Given the description of an element on the screen output the (x, y) to click on. 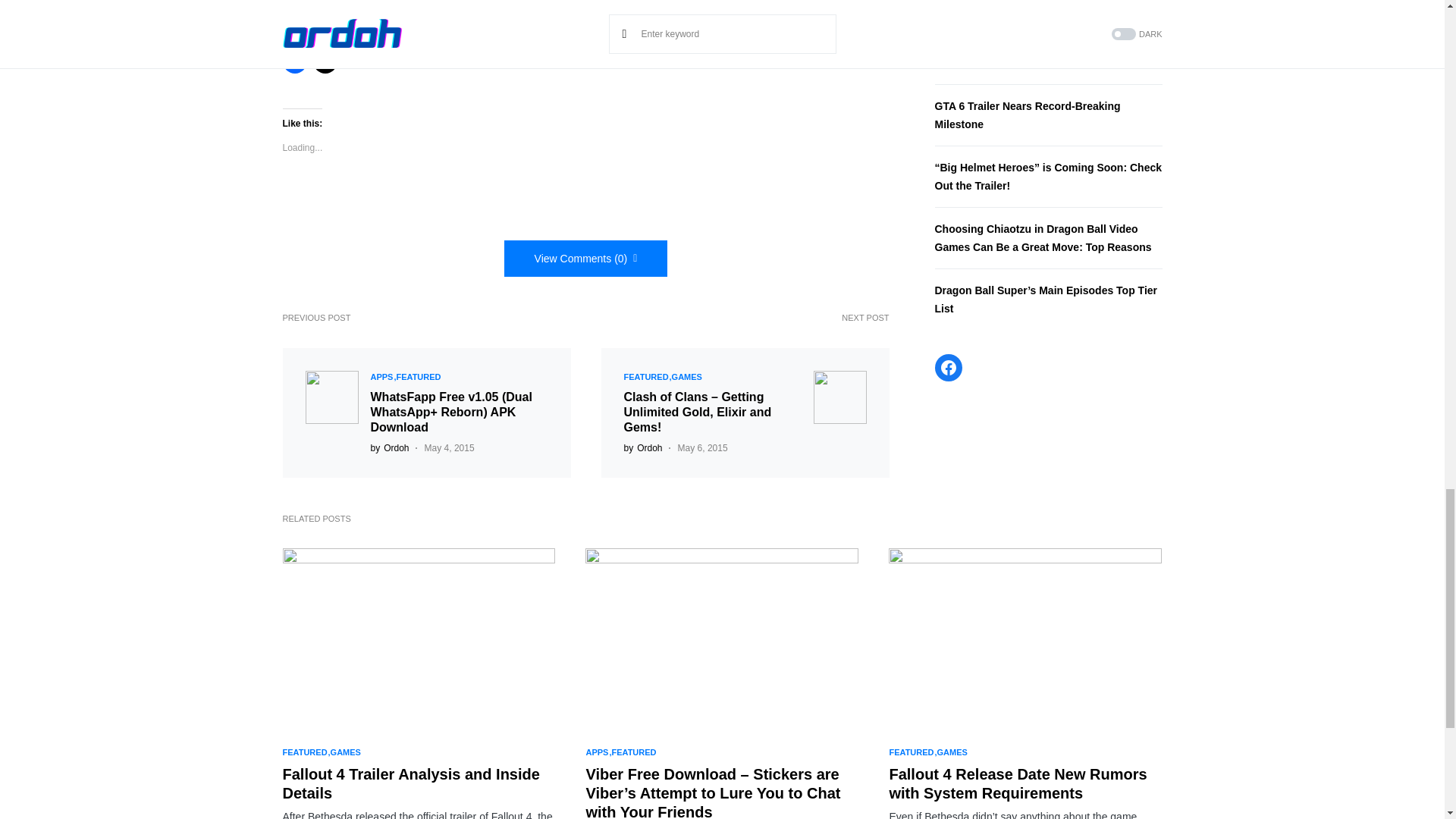
View all posts by Ordoh (642, 448)
Click to share on X (324, 61)
View all posts by Ordoh (389, 448)
Click to share on Facebook (293, 61)
